Given the description of an element on the screen output the (x, y) to click on. 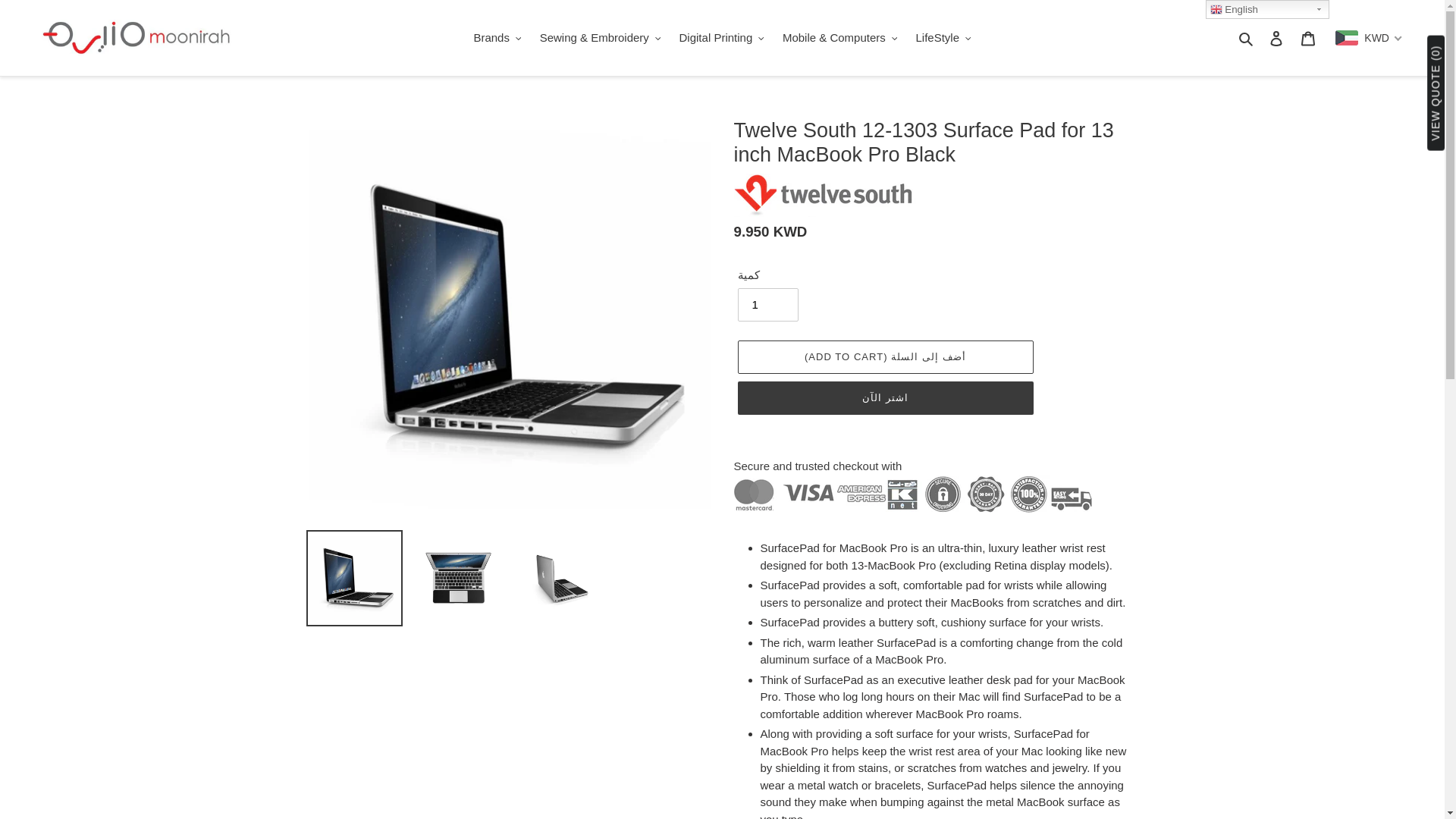
Brands (496, 38)
1 (766, 304)
